Given the description of an element on the screen output the (x, y) to click on. 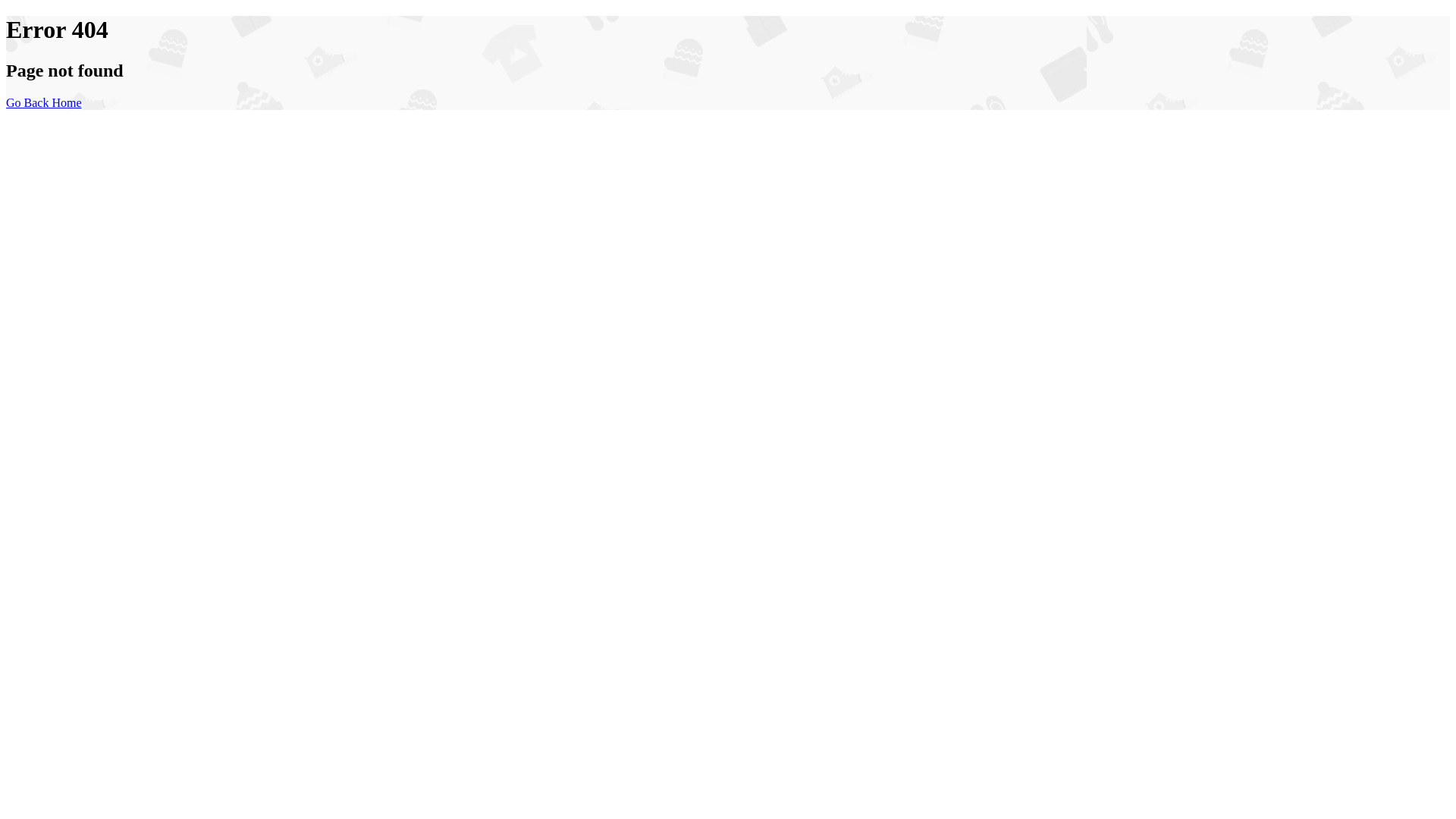
Go Back Home Element type: text (43, 102)
